Given the description of an element on the screen output the (x, y) to click on. 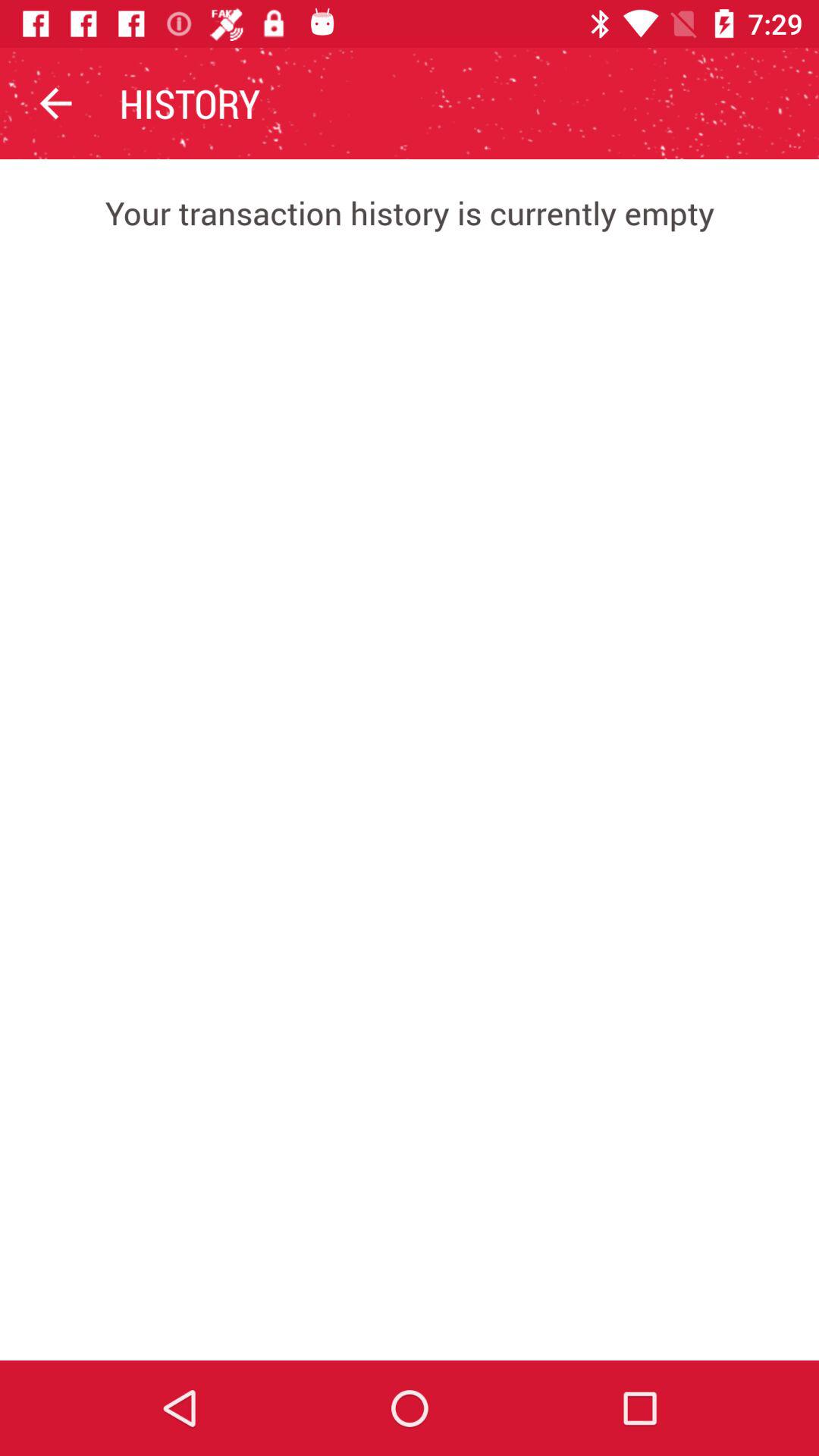
open icon next to history icon (55, 103)
